Given the description of an element on the screen output the (x, y) to click on. 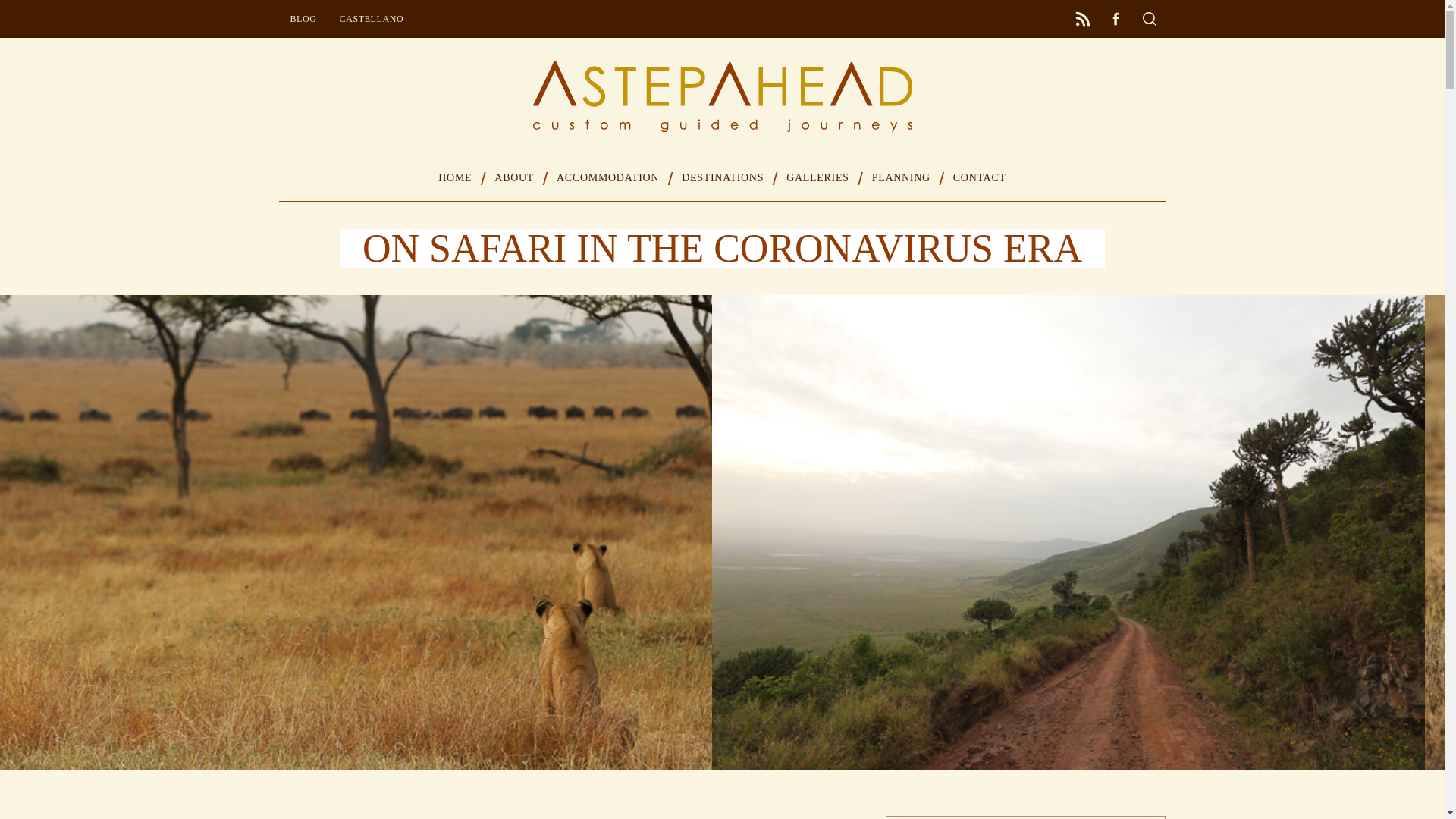
BLOG (304, 18)
CASTELLANO (371, 18)
